Given the description of an element on the screen output the (x, y) to click on. 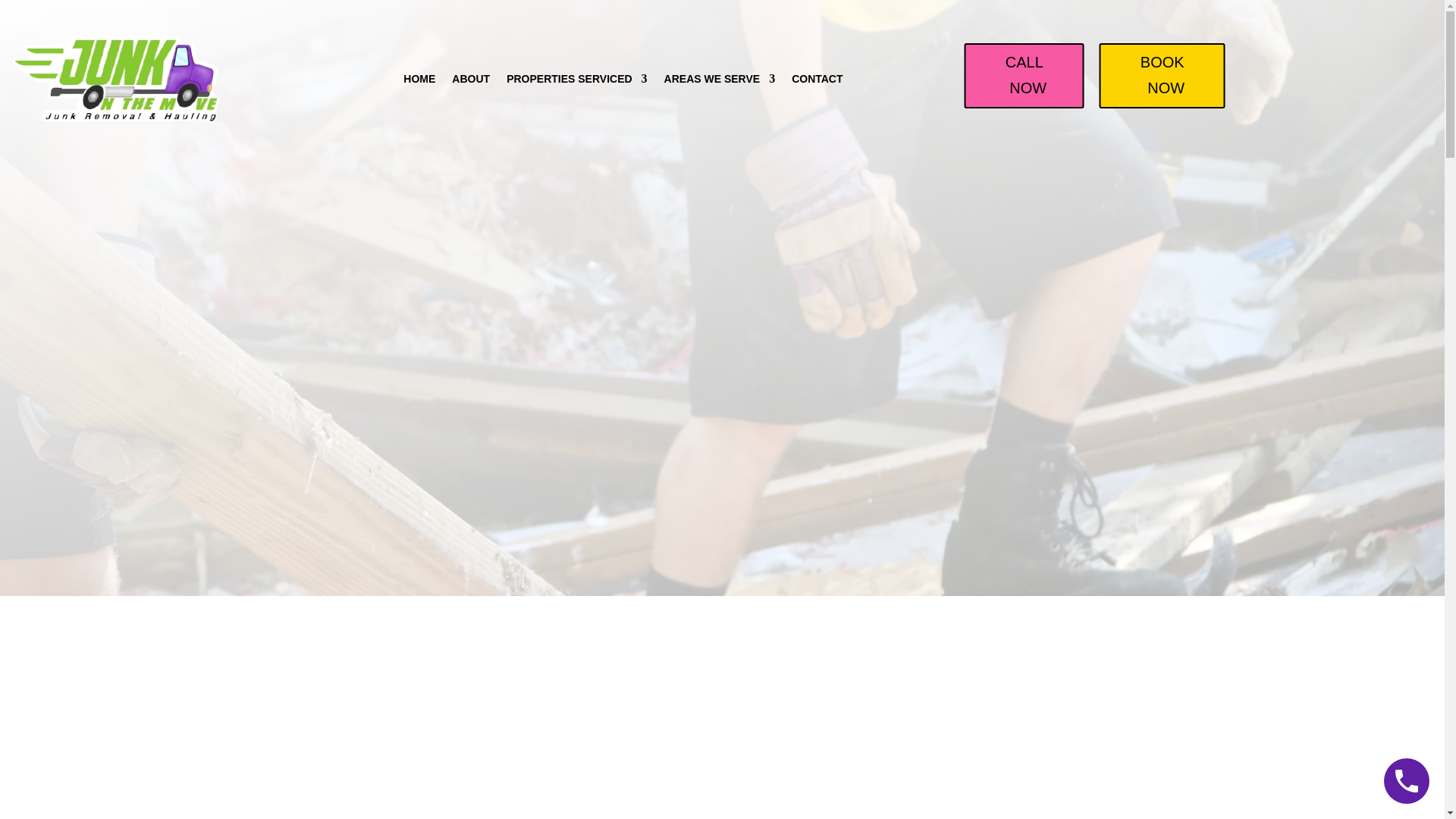
AREAS WE SERVE (719, 78)
BOOK NOW (1162, 75)
PROPERTIES SERVICED (576, 78)
CALL NOW (1023, 75)
